Given the description of an element on the screen output the (x, y) to click on. 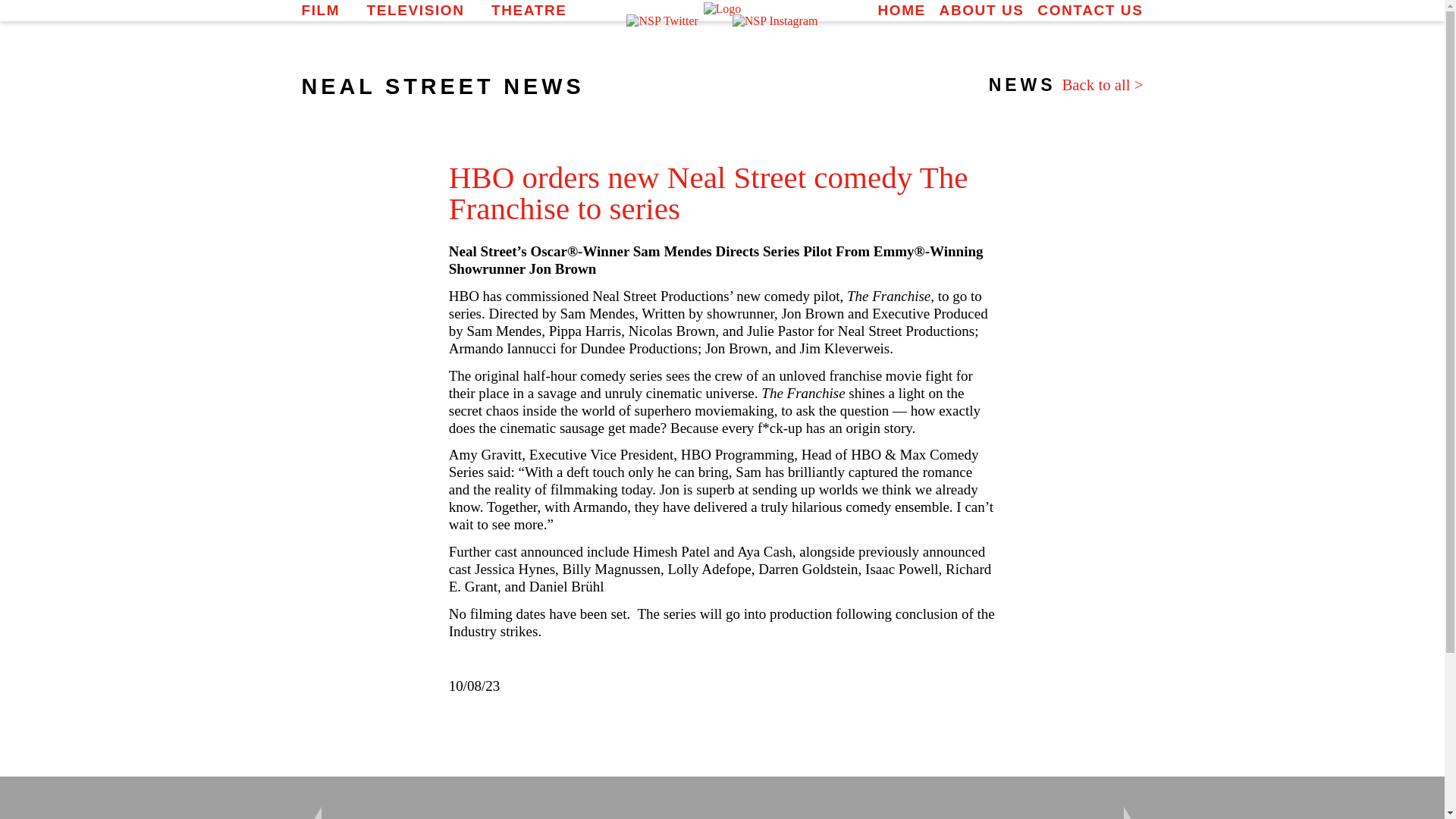
THEATRE (529, 10)
HOME (900, 10)
NSP Twitter (661, 20)
CONTACT US (1089, 10)
ABOUT US (982, 10)
Neal Street Productions (722, 8)
TELEVISION (415, 10)
NSP Instagram (775, 20)
FILM (320, 10)
